Given the description of an element on the screen output the (x, y) to click on. 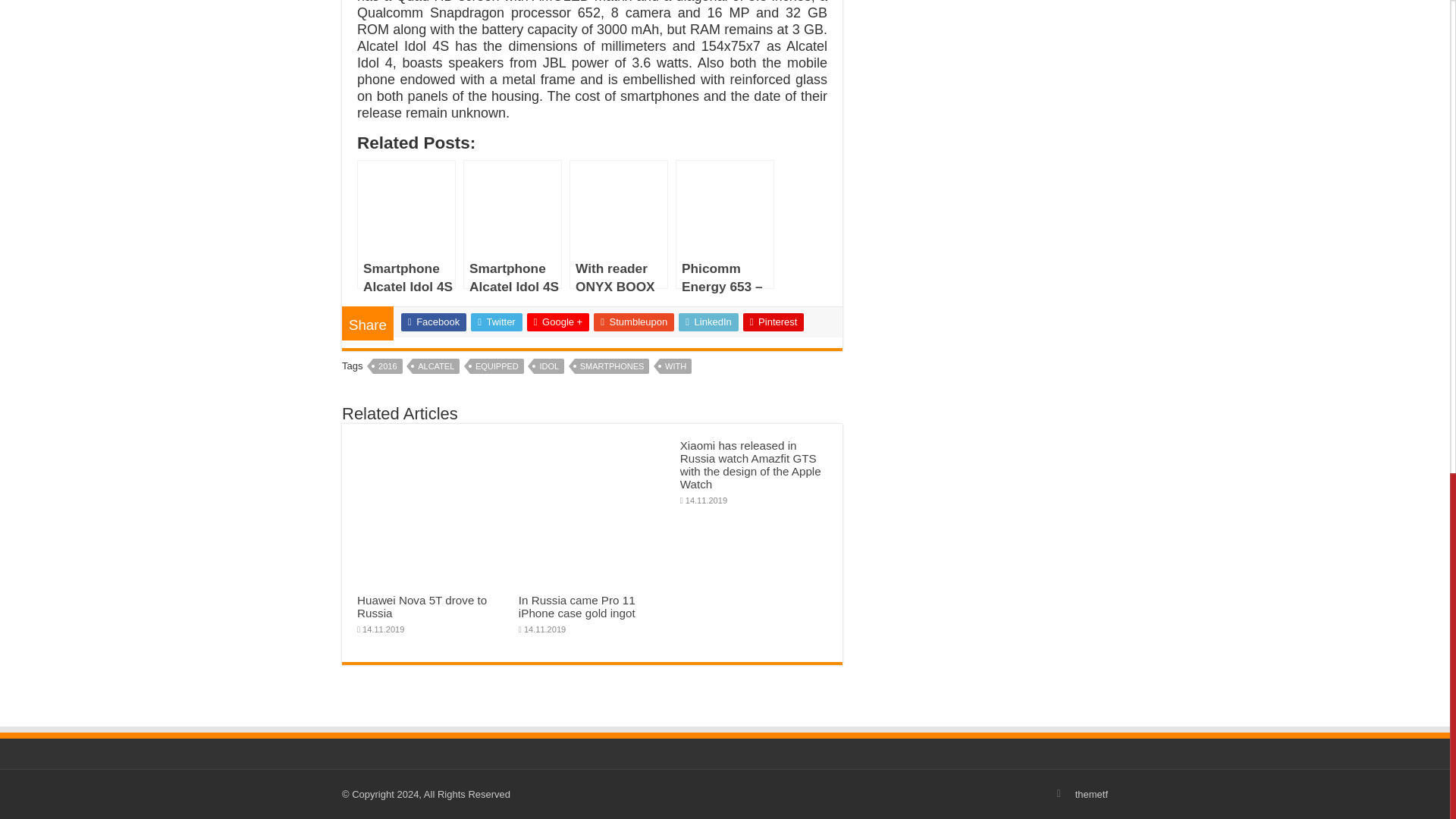
2016 (386, 365)
ALCATEL (436, 365)
SMARTPHONES (612, 365)
Facebook (433, 321)
LinkedIn (708, 321)
Stumbleupon (634, 321)
WITH (675, 365)
Download Free WordPress Responsive Themes (1091, 794)
Pinterest (773, 321)
EQUIPPED (497, 365)
IDOL (549, 365)
Twitter (495, 321)
